Given the description of an element on the screen output the (x, y) to click on. 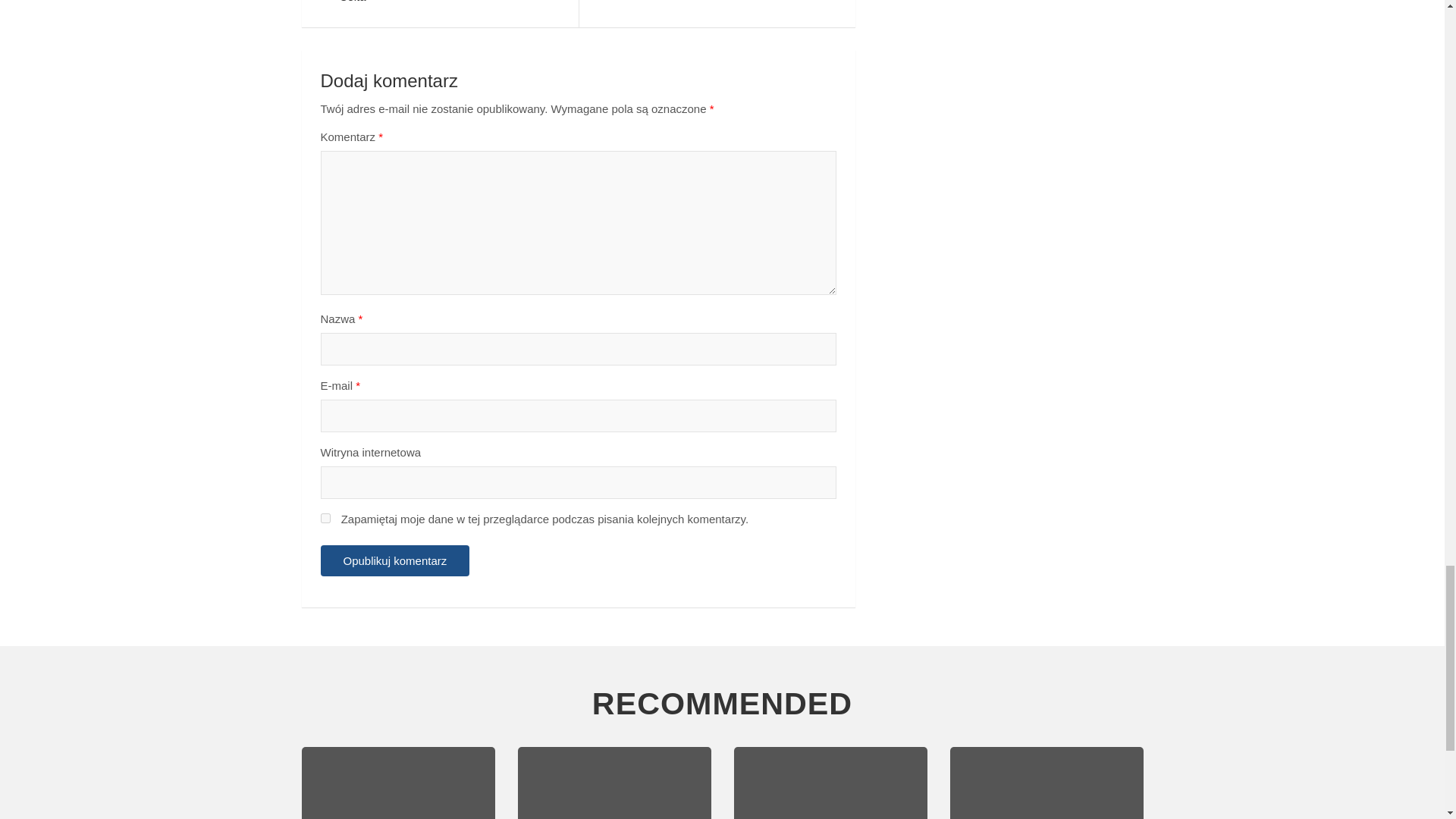
yes (325, 518)
Opublikuj komentarz (394, 560)
Opublikuj komentarz (394, 560)
